Given the description of an element on the screen output the (x, y) to click on. 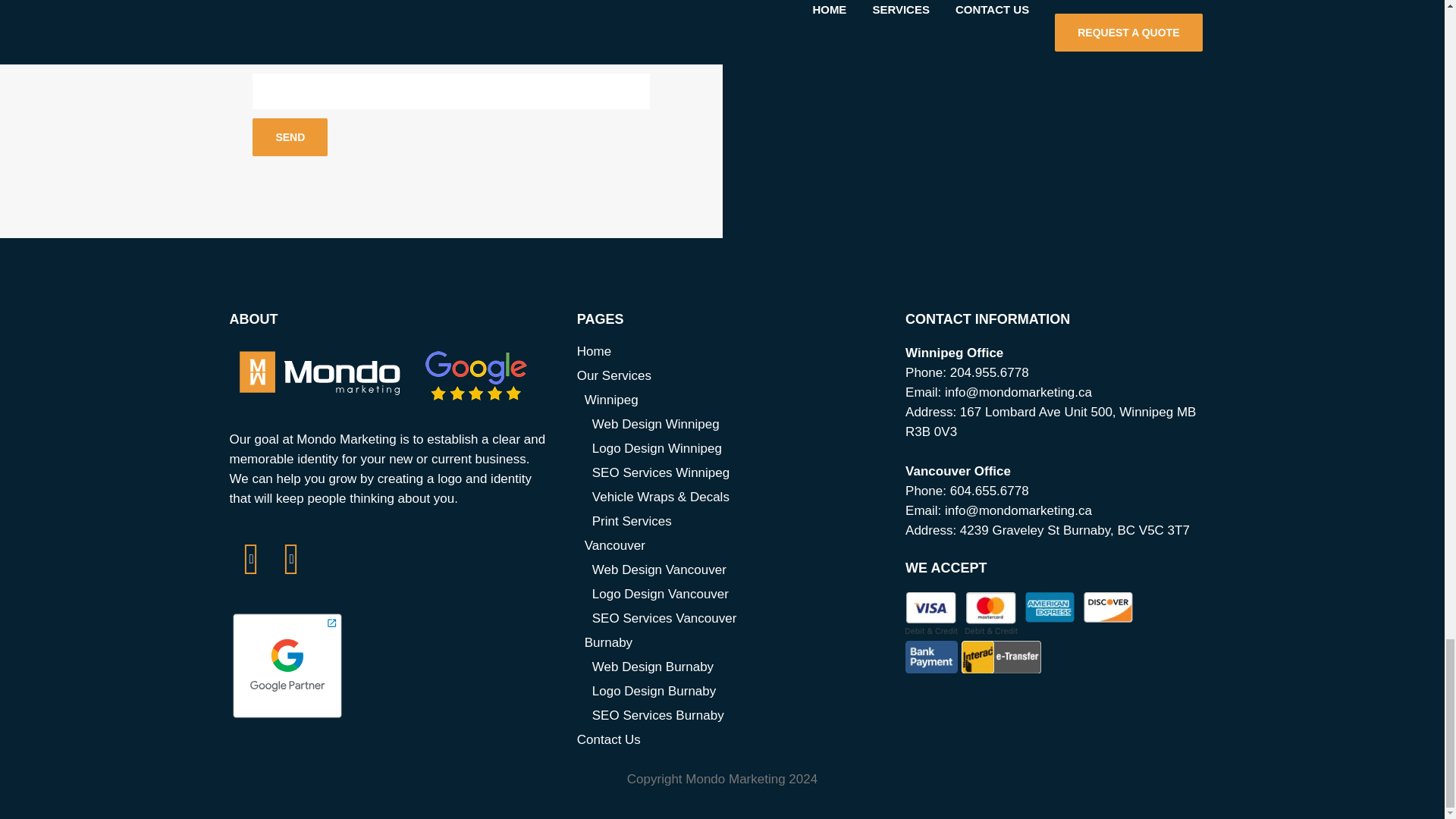
SEO Services Winnipeg (737, 473)
Web Design Vancouver (737, 569)
Home (729, 351)
Winnipeg (733, 400)
Our Services (729, 375)
Send (289, 136)
Print Services (737, 521)
Web Design Winnipeg (737, 424)
Vancouver (733, 545)
Logo Design Winnipeg (737, 448)
